Given the description of an element on the screen output the (x, y) to click on. 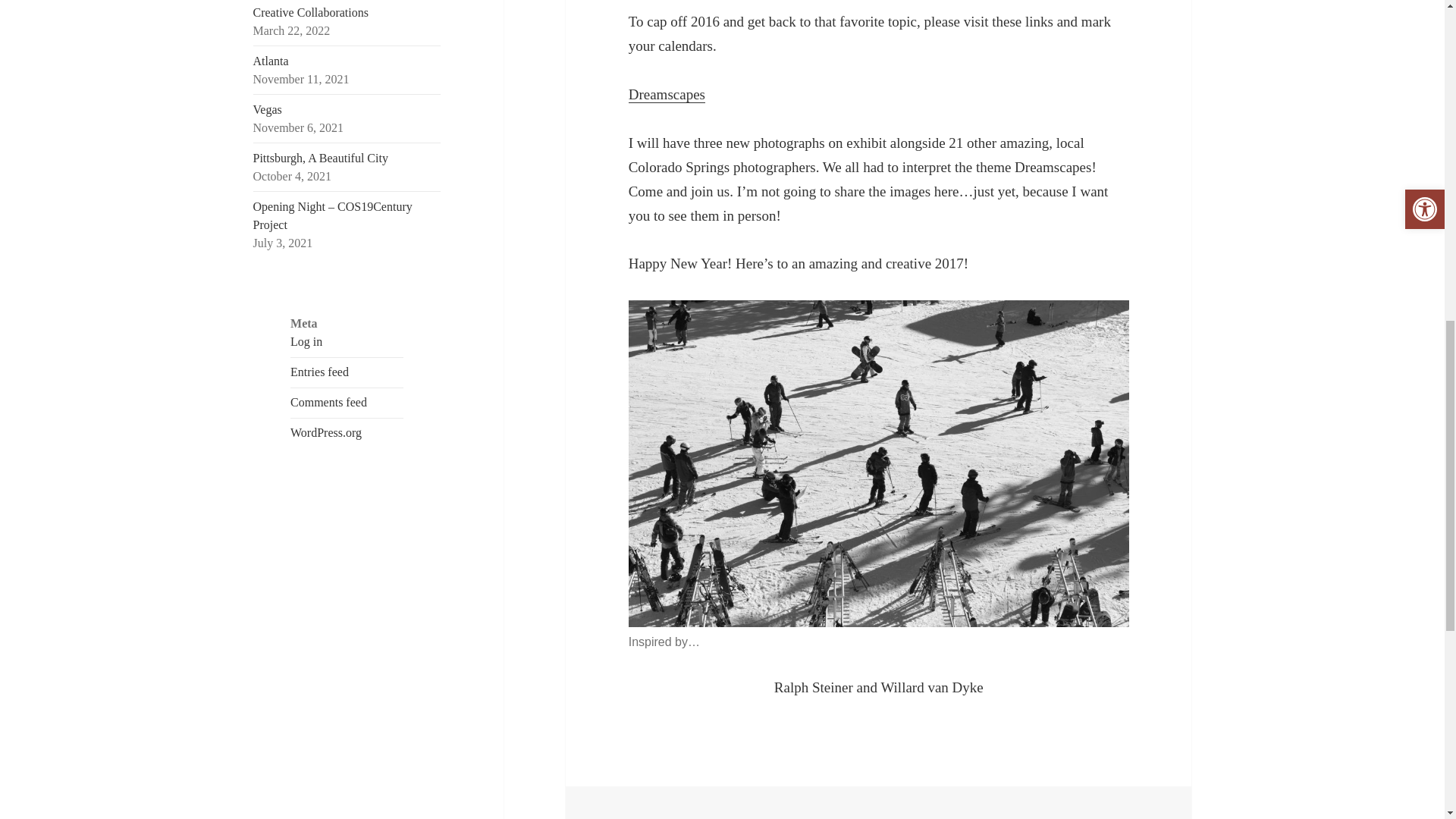
Atlanta (270, 60)
Creative Collaborations (310, 11)
Vegas (267, 109)
